Given the description of an element on the screen output the (x, y) to click on. 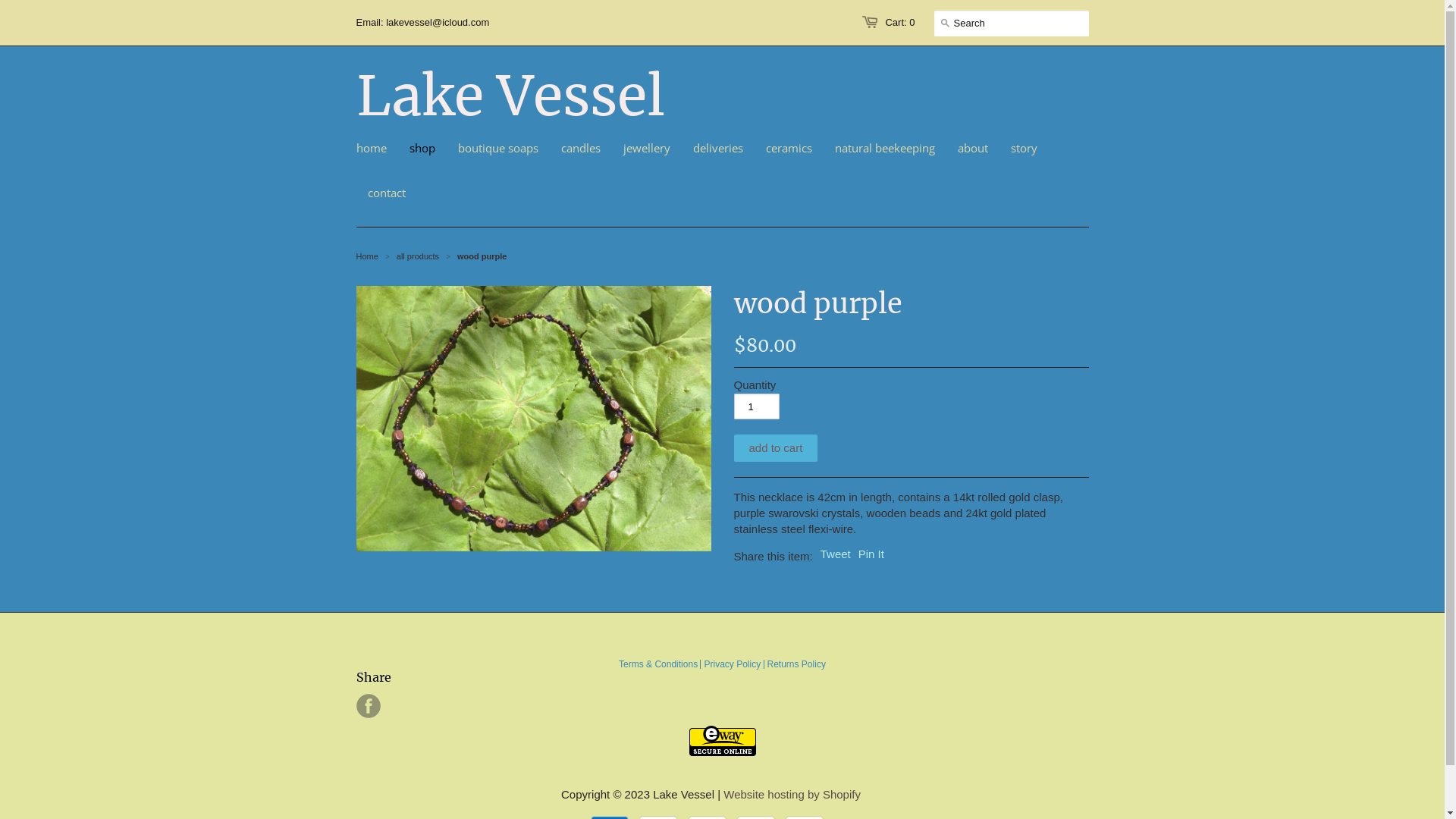
Website hosting by Shopify Element type: text (791, 793)
contact Element type: text (386, 192)
Add to cart Element type: text (776, 447)
boutique soaps Element type: text (497, 147)
home Element type: text (377, 147)
natural beekeeping Element type: text (884, 147)
eWAY Payment Gateway Element type: hover (721, 751)
candles Element type: text (580, 147)
Cart: 0 Element type: text (899, 22)
Returns Policy Element type: text (796, 663)
Tweet Element type: text (835, 553)
Terms & Conditions Element type: text (657, 663)
jewellery Element type: text (645, 147)
Pin It Element type: text (871, 553)
lakevessel@icloud.com Element type: text (437, 22)
deliveries Element type: text (716, 147)
ceramics Element type: text (787, 147)
Lake Vessel Element type: text (510, 96)
shop Element type: text (421, 147)
about Element type: text (972, 147)
story Element type: text (1023, 147)
Privacy Policy Element type: text (731, 663)
all products Element type: text (418, 255)
Home Element type: text (367, 255)
Facebook Element type: text (368, 705)
